Given the description of an element on the screen output the (x, y) to click on. 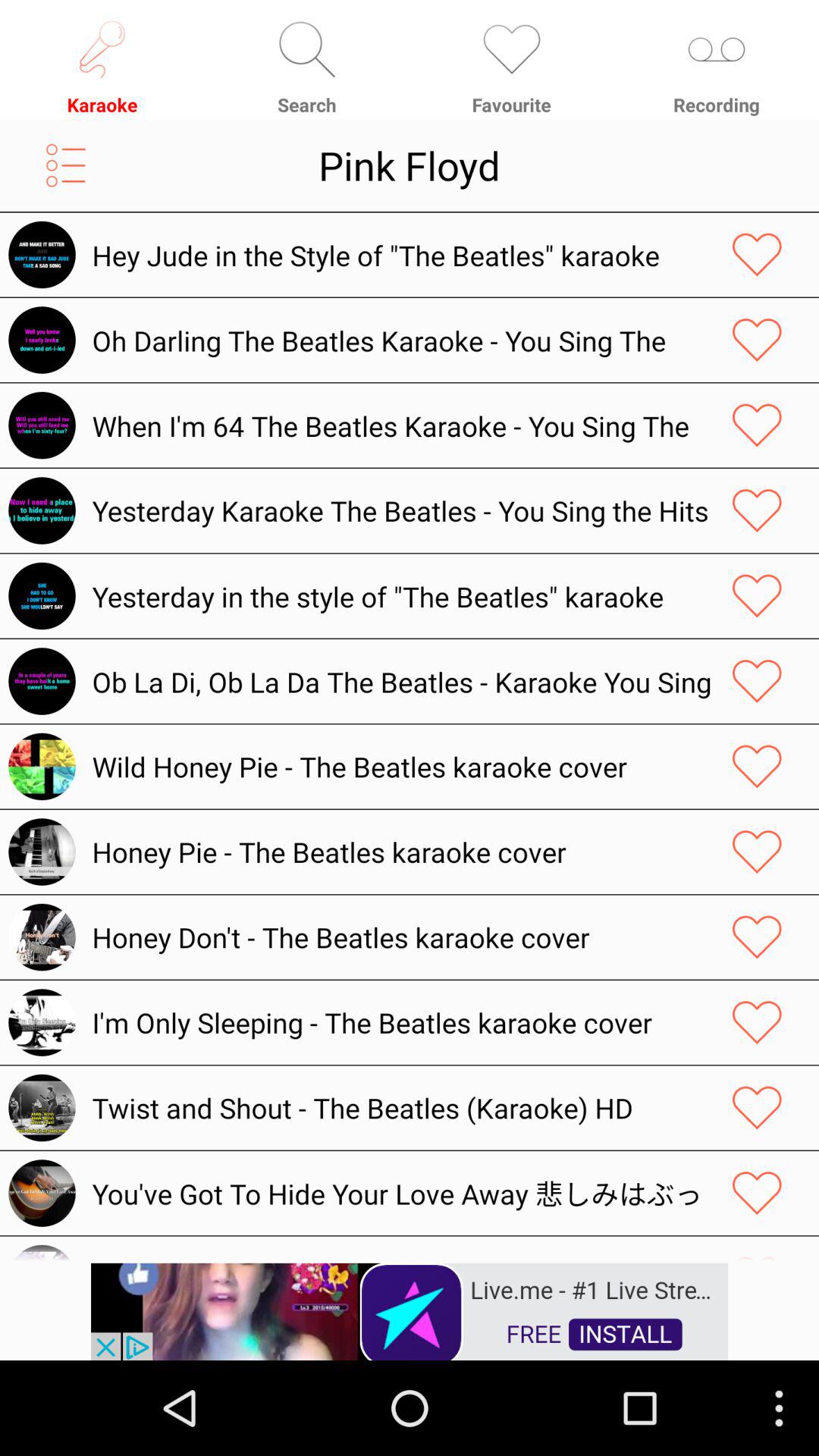
like a song (756, 766)
